Given the description of an element on the screen output the (x, y) to click on. 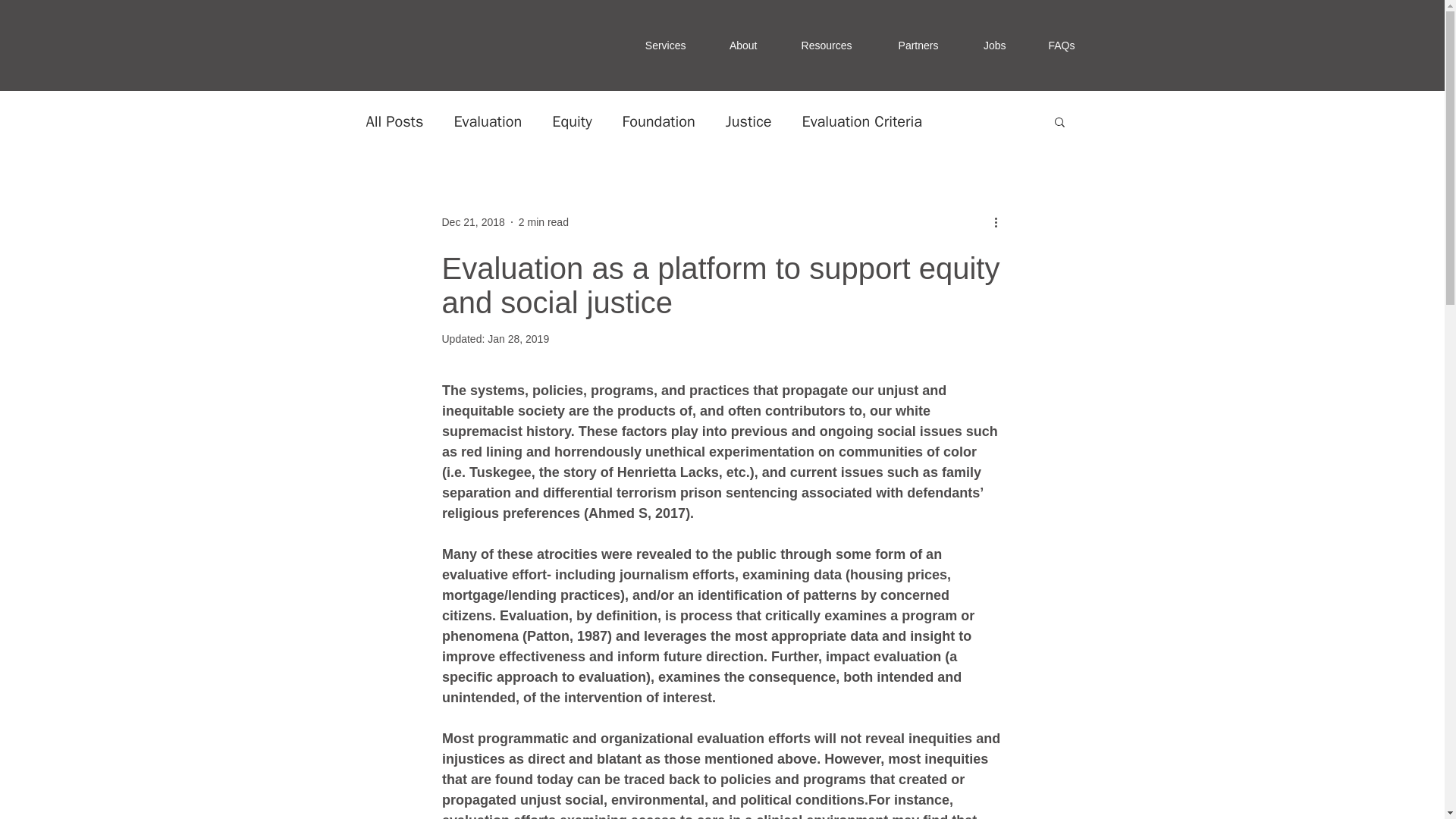
FAQs (1059, 45)
Jobs (990, 45)
Equity (571, 120)
2 min read (543, 221)
Dec 21, 2018 (472, 221)
Foundation (659, 120)
All Posts (394, 120)
Justice (748, 120)
Jan 28, 2019 (517, 338)
About (740, 45)
